Given the description of an element on the screen output the (x, y) to click on. 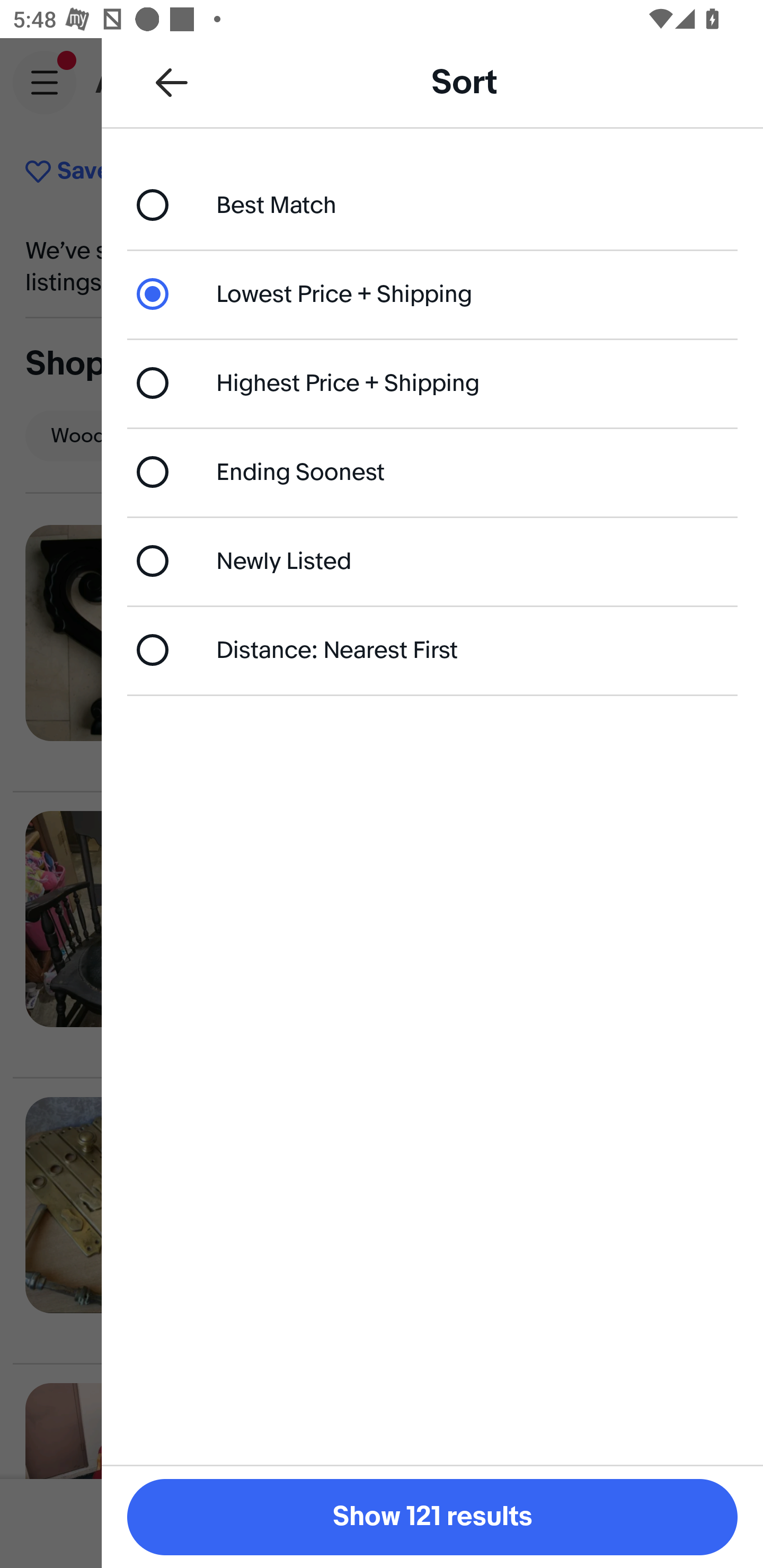
Back to all refinements (171, 81)
Best Match (432, 204)
Highest Price + Shipping (432, 383)
Ending Soonest (432, 471)
Newly Listed (432, 560)
Distance: Nearest First (432, 649)
Show 121 results (432, 1516)
